Given the description of an element on the screen output the (x, y) to click on. 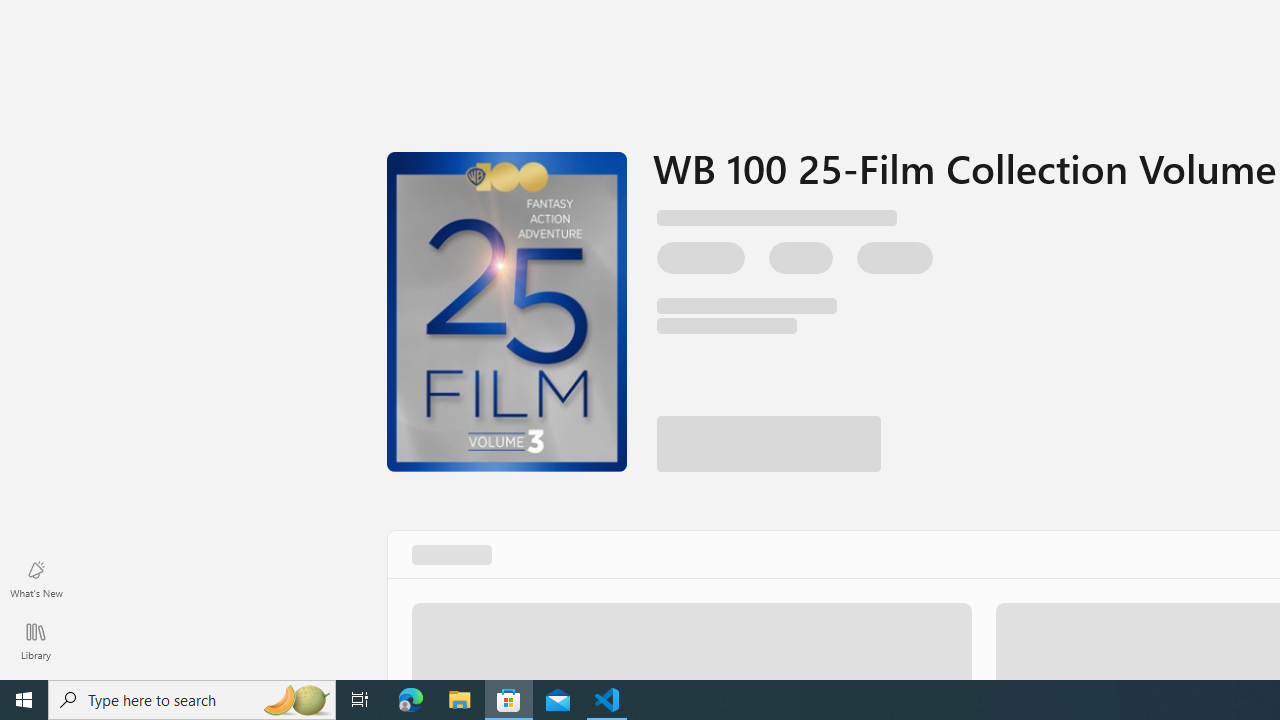
Library (35, 640)
What's New (35, 578)
